Given the description of an element on the screen output the (x, y) to click on. 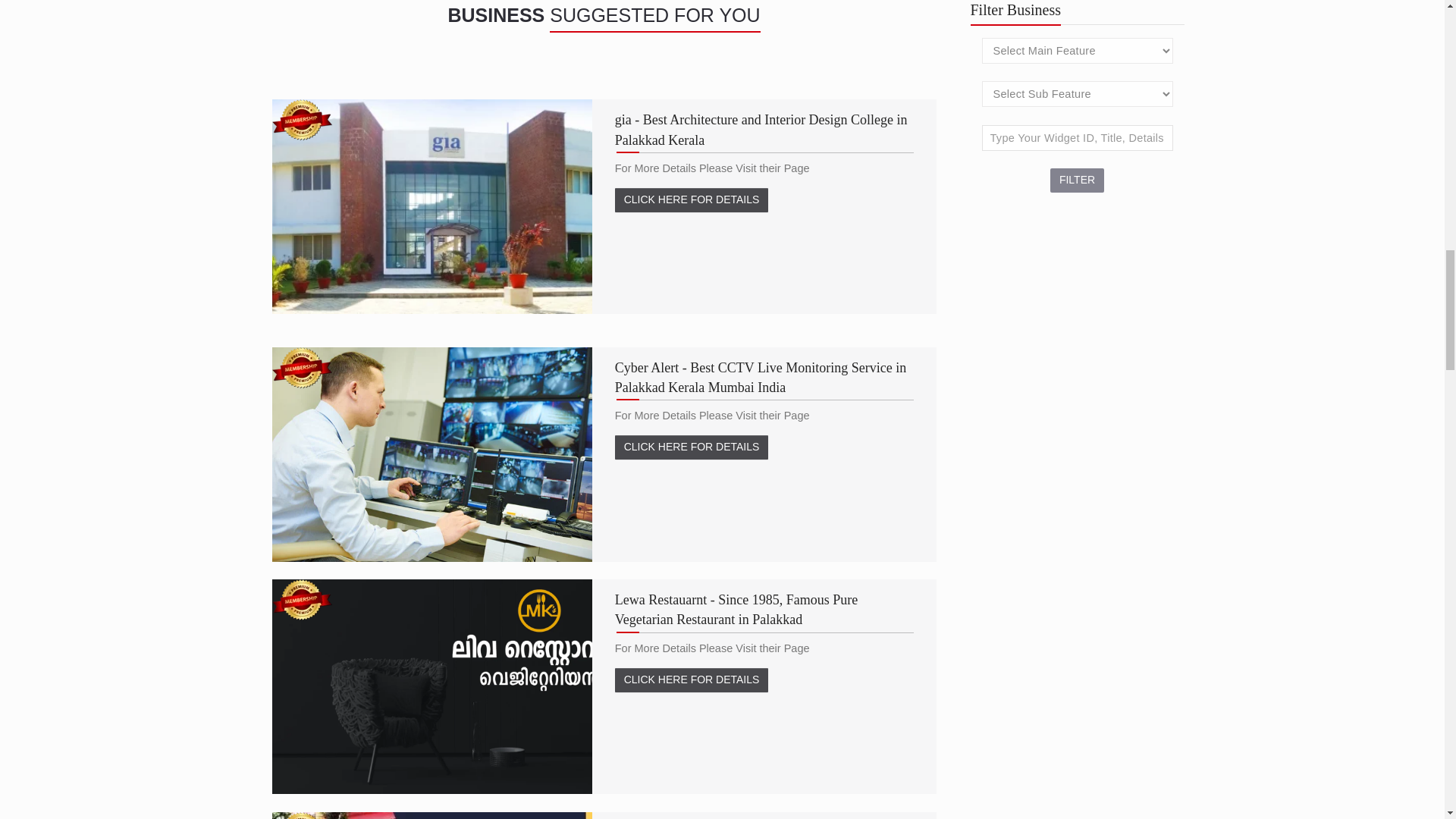
FILTER (1076, 180)
